Given the description of an element on the screen output the (x, y) to click on. 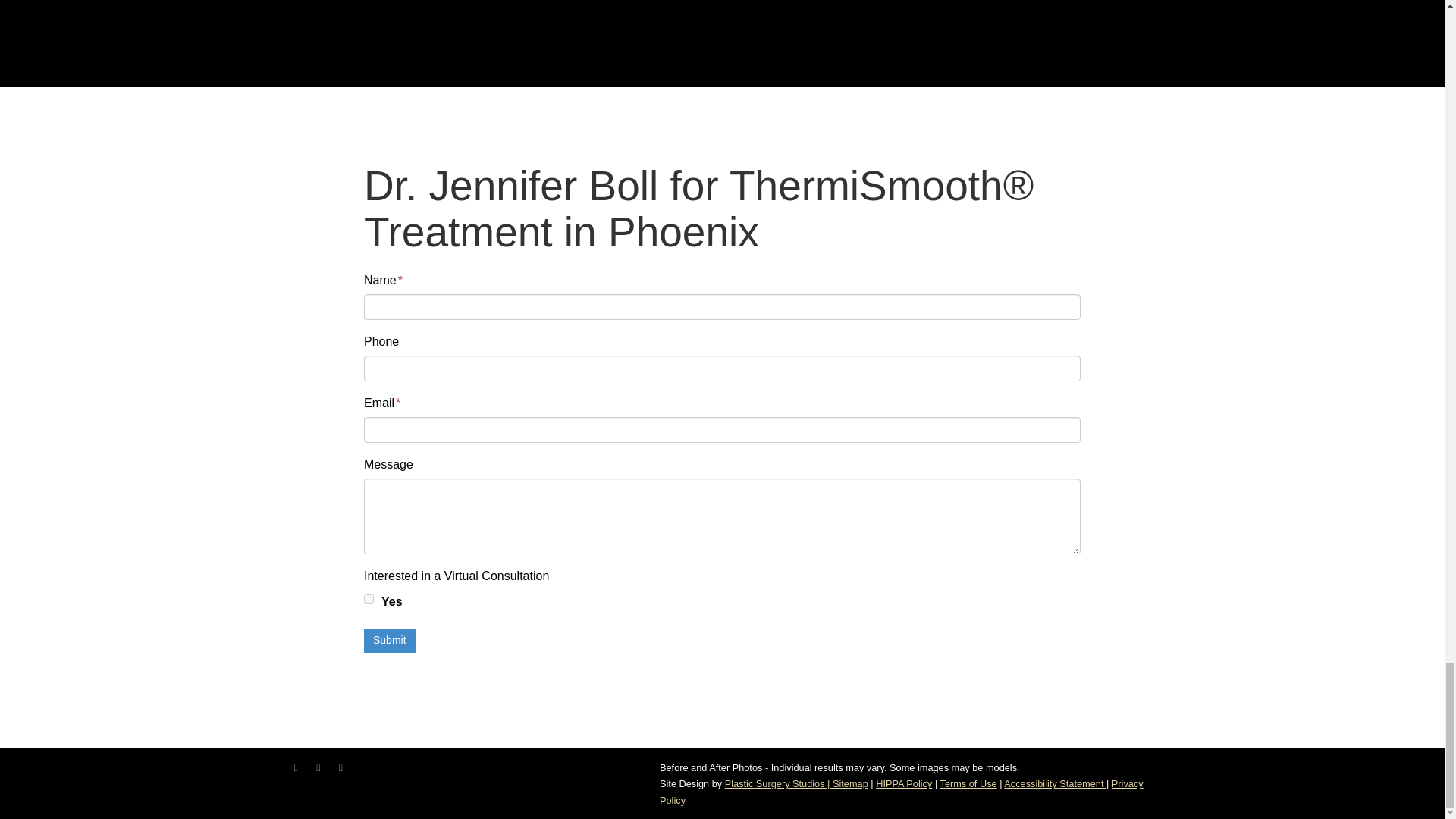
Submit (389, 640)
Yes (369, 598)
